Given the description of an element on the screen output the (x, y) to click on. 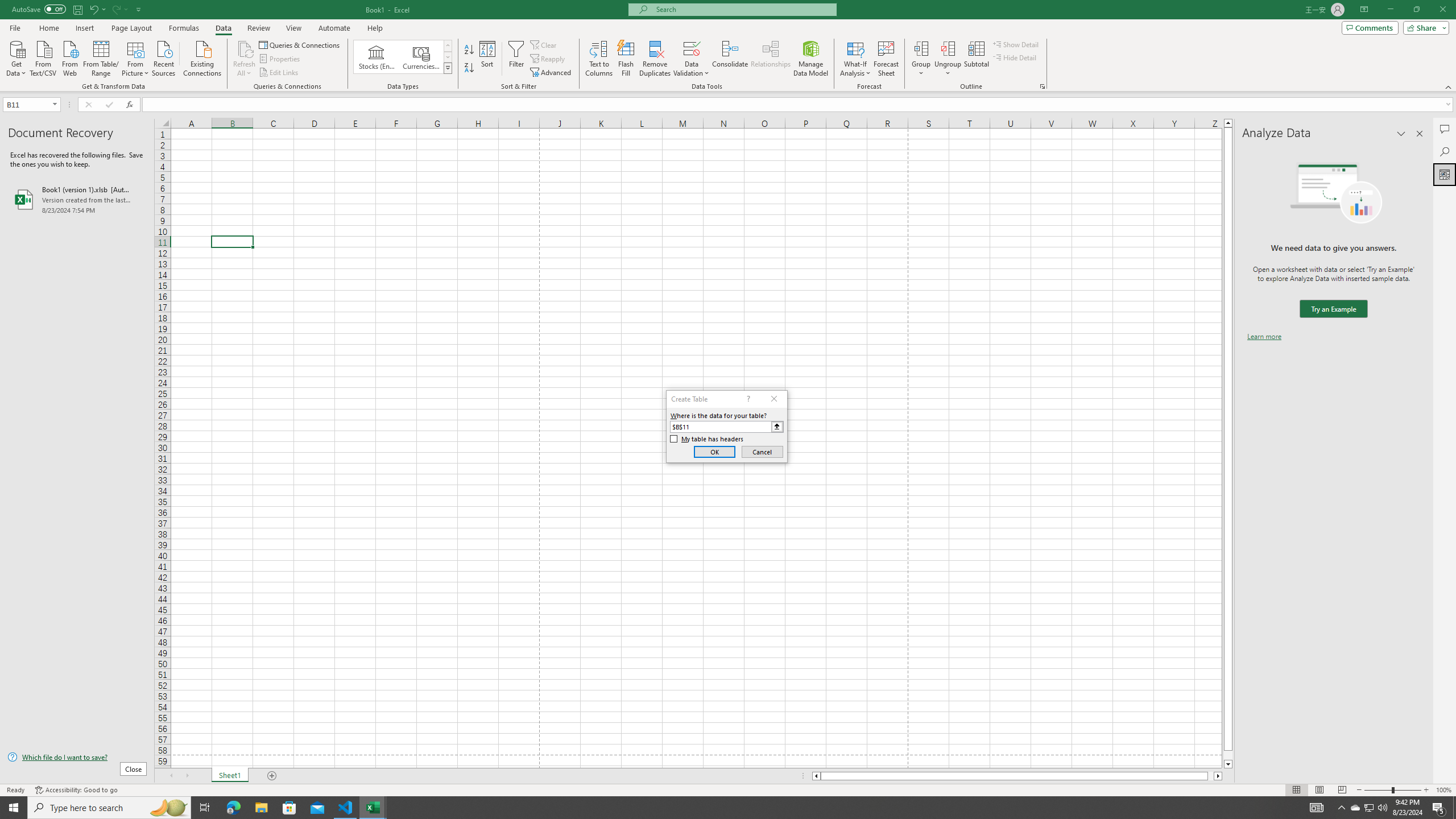
Show Detail (1016, 44)
Refresh All (244, 48)
Restore Down (1416, 9)
More Options (947, 68)
Text to Columns... (598, 58)
Remove Duplicates (654, 58)
Share (1423, 27)
Sort A to Z (469, 49)
From Web (69, 57)
Subtotal (976, 58)
Customize Quick Access Toolbar (139, 9)
Analyze Data (1444, 173)
Group... (921, 48)
